Given the description of an element on the screen output the (x, y) to click on. 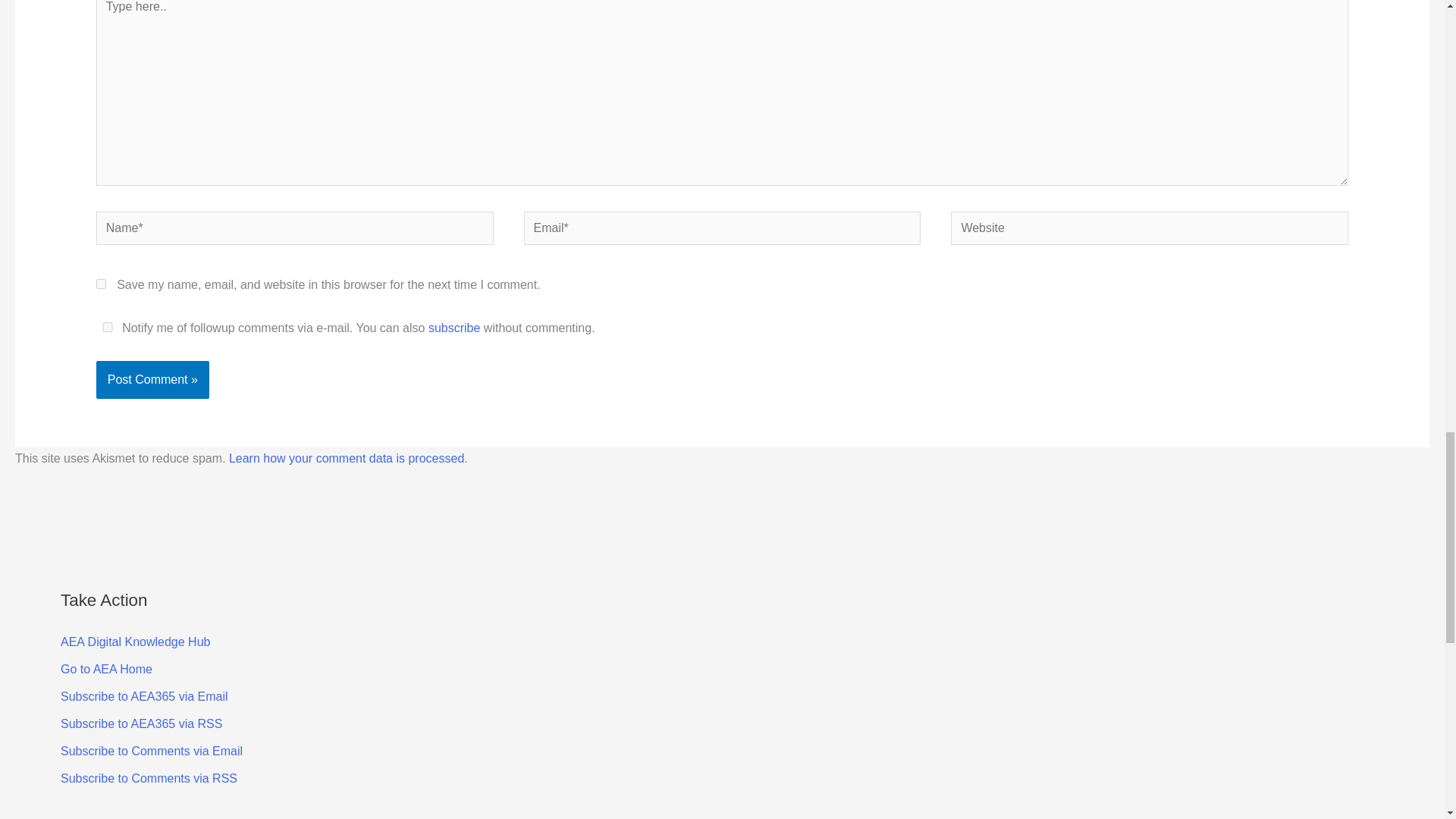
Subscribe to aea365 via RSS feed (141, 723)
yes (101, 284)
AEA Digital Knowledge Hub (135, 641)
Subscribe to AEA365 via Email (144, 696)
Subscribe to Comments via Email (152, 750)
Go to AEA Home (106, 668)
yes (107, 327)
American Evaluation Association Homepage (106, 668)
Receive aea365 daily via email subscription (144, 696)
Learn how your comment data is processed (346, 458)
Subscribe to AEA365 via RSS (141, 723)
subscribe (454, 327)
Subscribe to Comments via RSS (149, 778)
